Given the description of an element on the screen output the (x, y) to click on. 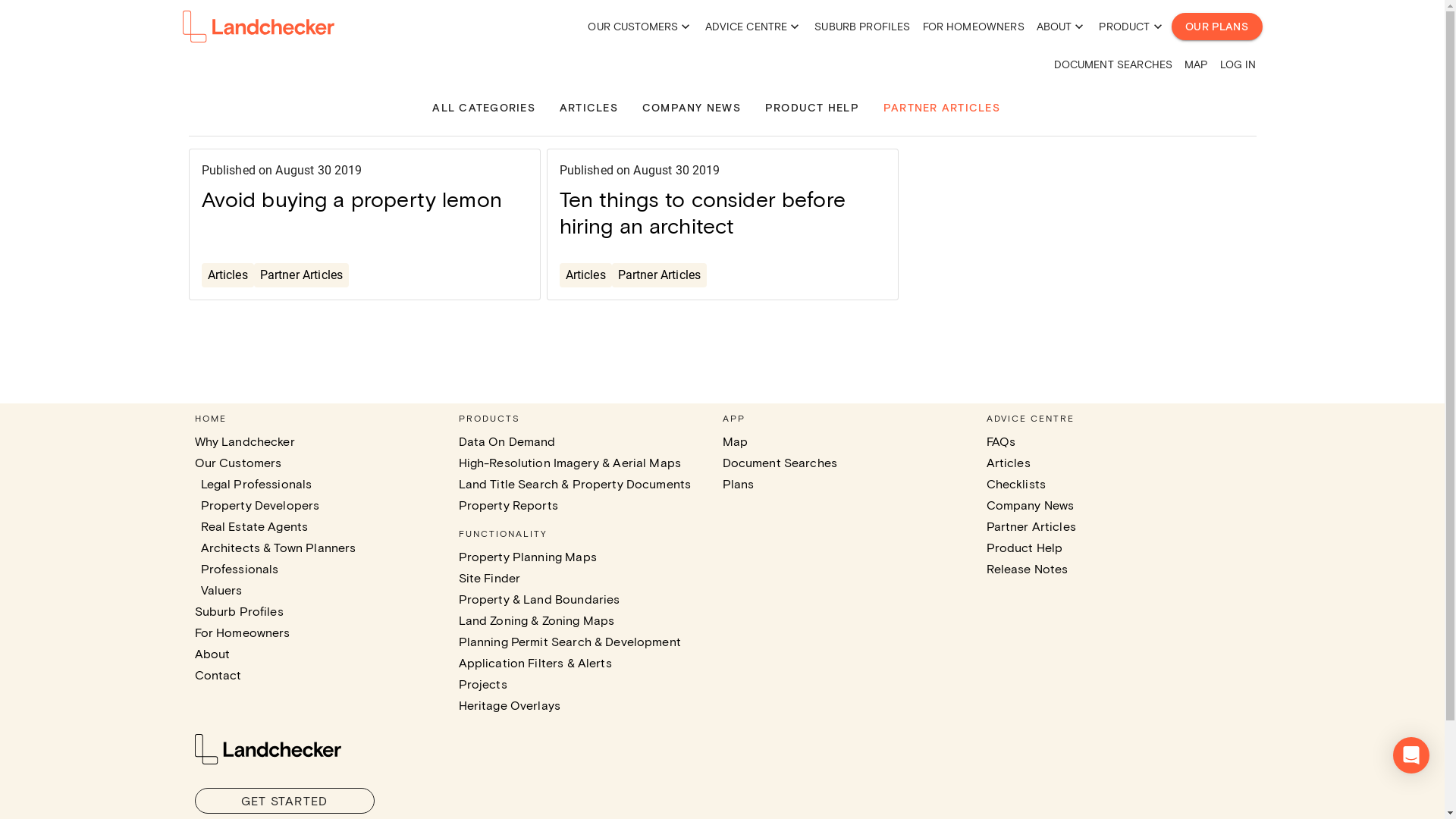
Map Element type: text (733, 441)
PARTNER ARTICLES Element type: text (941, 107)
About Element type: text (211, 653)
Suburb Profiles Element type: text (238, 611)
ALL CATEGORIES Element type: text (483, 107)
Partner Articles Element type: text (1030, 526)
Plans Element type: text (737, 483)
Property Planning Maps Element type: text (527, 556)
DOCUMENT SEARCHES Element type: text (1113, 64)
Articles Element type: text (1007, 462)
Legal Professionals Element type: text (255, 483)
Professionals Element type: text (239, 568)
Release Notes Element type: text (1026, 568)
MAP Element type: text (1195, 64)
Real Estate Agents Element type: text (253, 526)
PRODUCT HELP Element type: text (812, 107)
For Homeowners Element type: text (241, 632)
Property Developers Element type: text (259, 505)
Ten things to consider before hiring an architect Element type: text (702, 211)
Land Zoning & Zoning Maps Element type: text (536, 620)
Partner Articles Element type: text (301, 274)
Property Reports Element type: text (507, 505)
Product Help Element type: text (1023, 547)
Articles Element type: text (585, 274)
Articles Element type: text (227, 274)
Property & Land Boundaries Element type: text (538, 599)
GET STARTED Element type: text (283, 800)
Why Landchecker Element type: text (244, 441)
Projects Element type: text (482, 684)
Avoid buying a property lemon Element type: text (351, 197)
Checklists Element type: text (1015, 483)
FOR HOMEOWNERS Element type: text (973, 26)
Document Searches Element type: text (779, 462)
Partner Articles Element type: text (658, 274)
Land Title Search & Property Documents Element type: text (574, 483)
Contact Element type: text (217, 675)
OUR PLANS Element type: text (1215, 26)
Data On Demand Element type: text (506, 441)
Valuers Element type: text (220, 590)
Company News Element type: text (1029, 505)
COMPANY NEWS Element type: text (691, 107)
Heritage Overlays Element type: text (509, 705)
High-Resolution Imagery & Aerial Maps Element type: text (569, 462)
ARTICLES Element type: text (588, 107)
SUBURB PROFILES Element type: text (862, 26)
Site Finder Element type: text (489, 578)
Architects & Town Planners Element type: text (277, 547)
FAQs Element type: text (1000, 441)
LOG IN Element type: text (1238, 64)
